Given the description of an element on the screen output the (x, y) to click on. 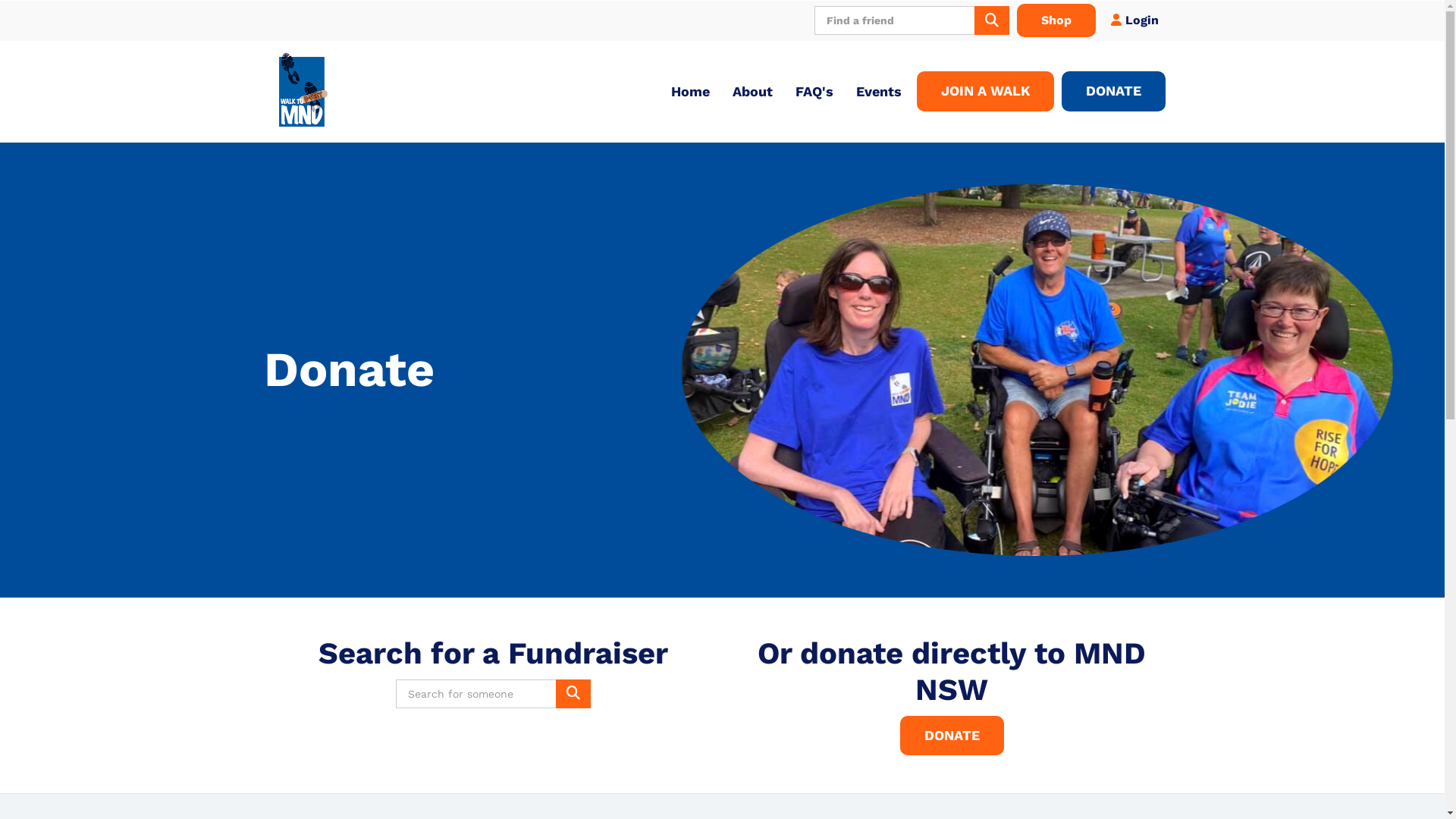
DONATE Element type: text (1113, 91)
JOIN A WALK Element type: text (985, 91)
Events Element type: text (878, 91)
Home Element type: text (690, 91)
About Element type: text (752, 91)
Shop Element type: text (1055, 20)
FAQ's Element type: text (814, 91)
DONATE Element type: text (951, 735)
Login Element type: text (1134, 20)
